Given the description of an element on the screen output the (x, y) to click on. 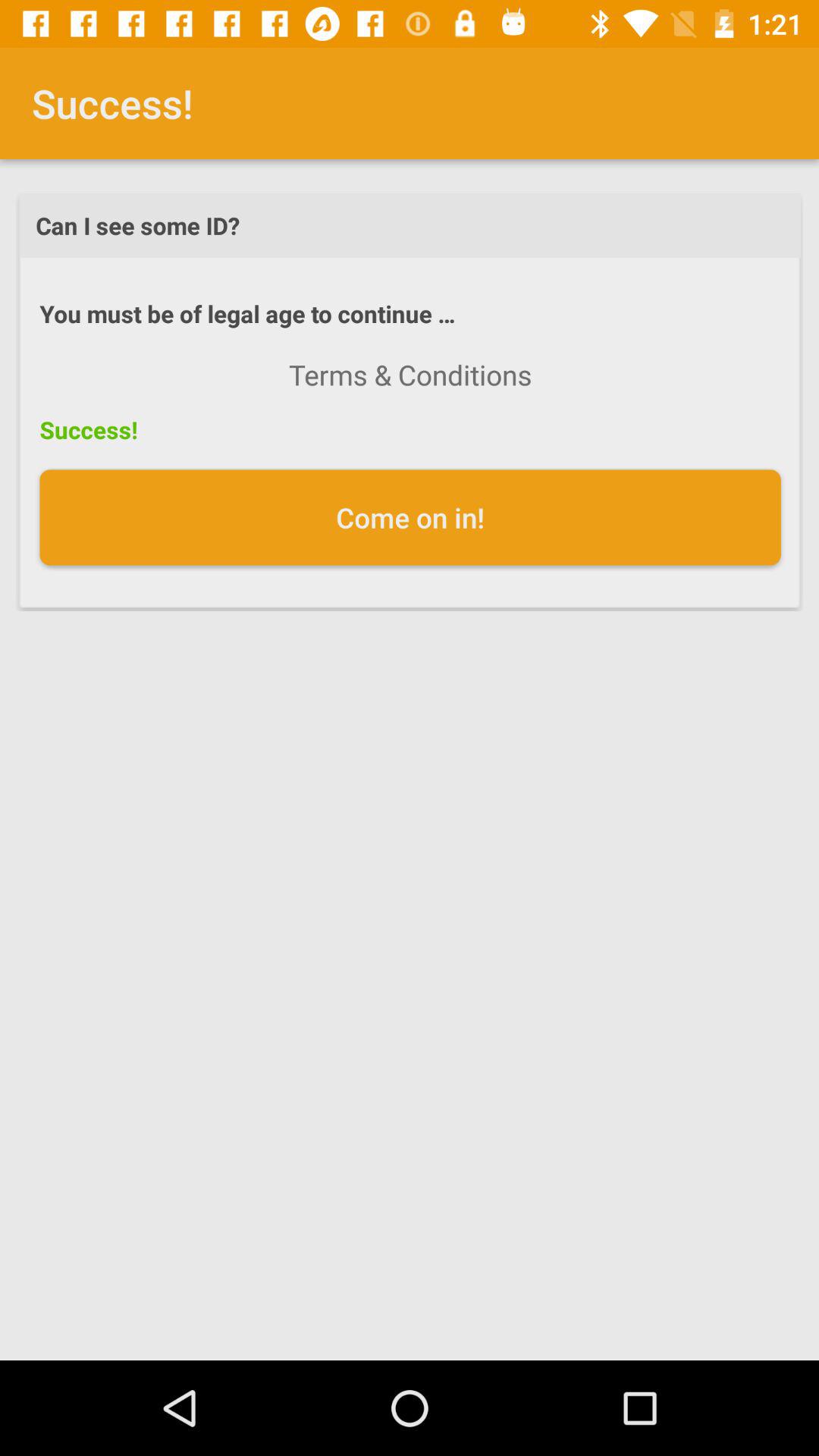
jump until the terms & conditions (409, 374)
